Given the description of an element on the screen output the (x, y) to click on. 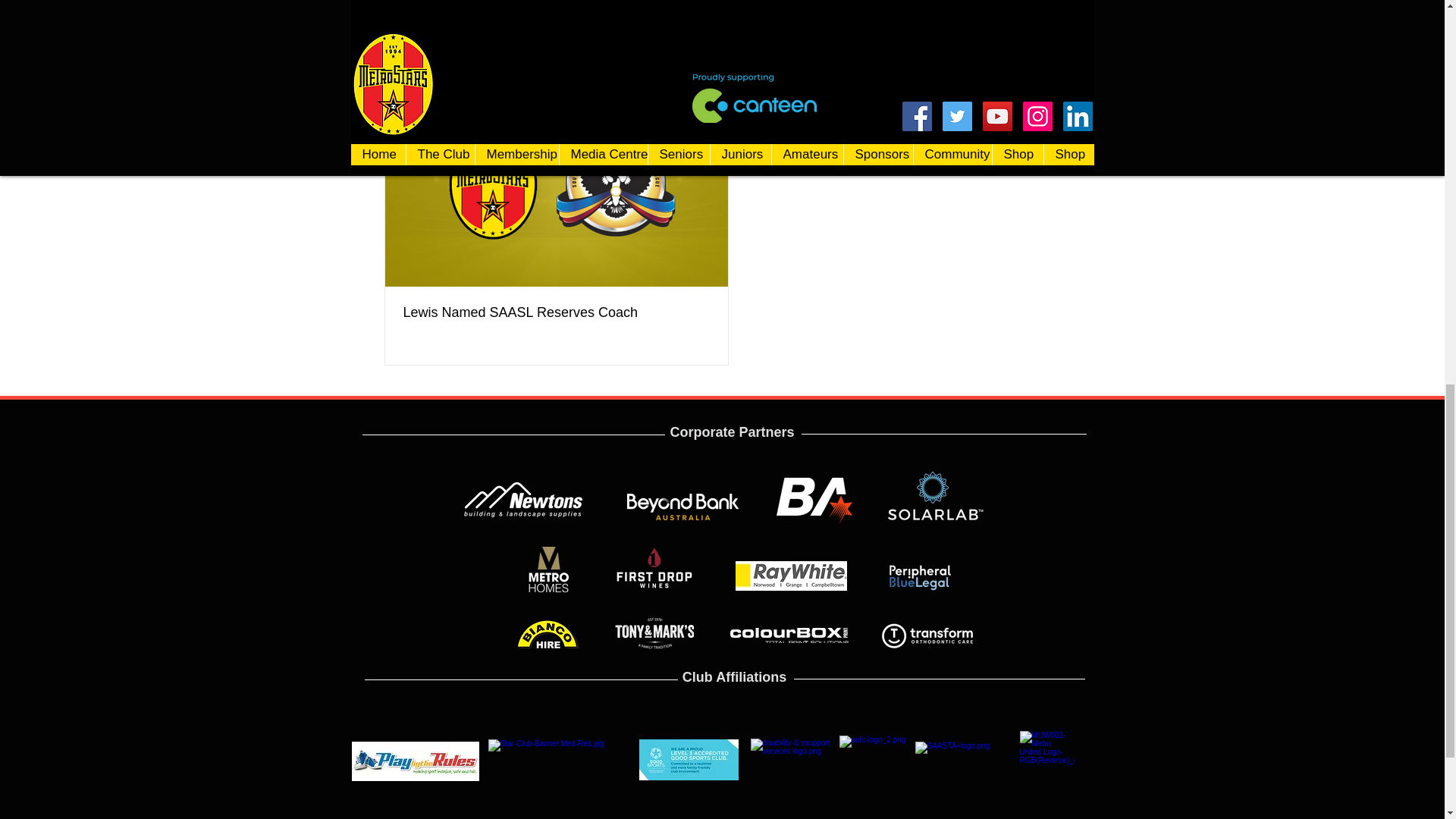
Tony Marks White.PNG (688, 759)
JS Sports.png (813, 500)
Play-by-the-Rules-1.jpg (558, 759)
Tony Marks White.PNG (795, 758)
Play-by-the-Rules-1.jpg (415, 761)
